Given the description of an element on the screen output the (x, y) to click on. 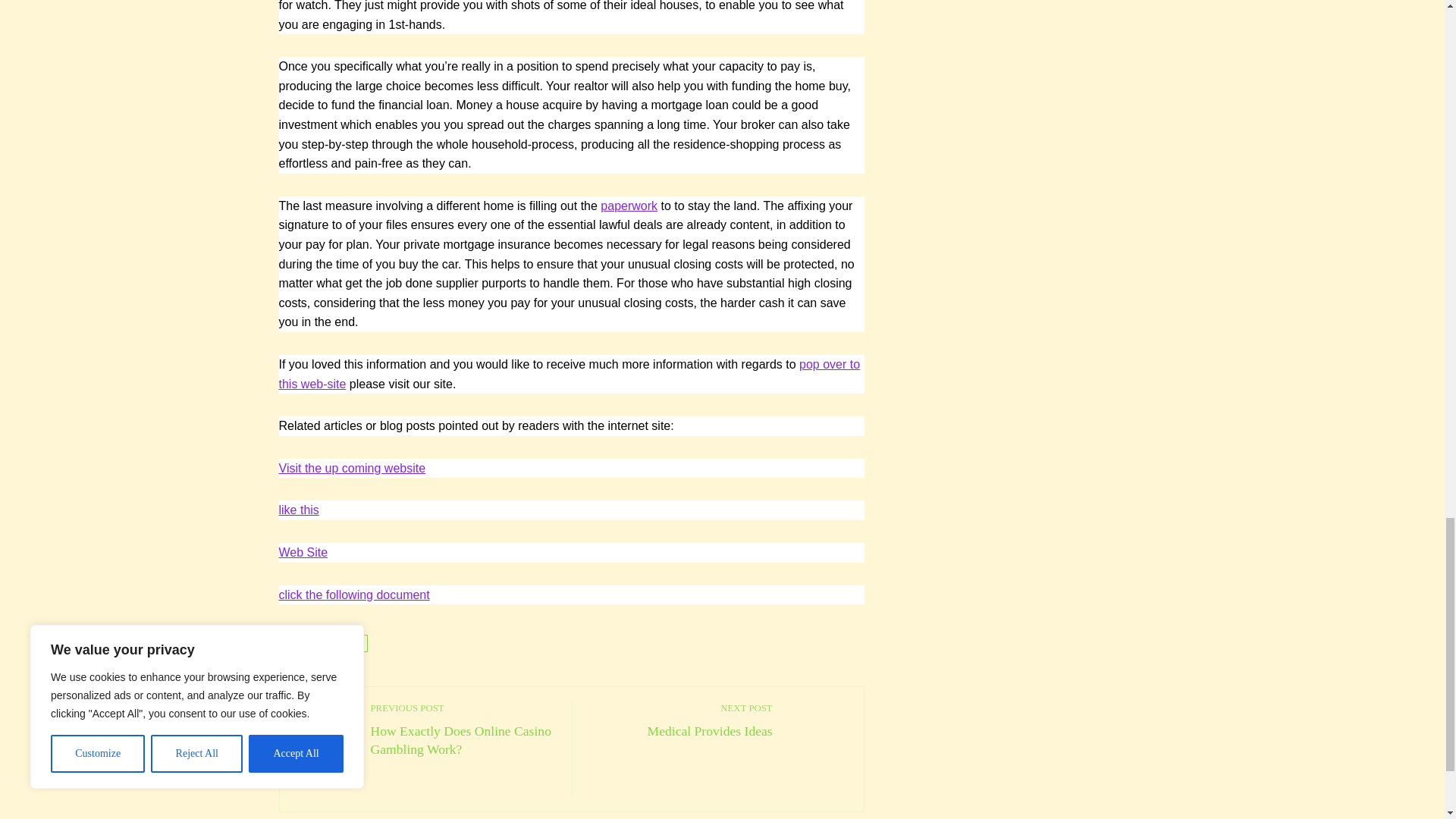
like this (298, 509)
paperwork (462, 729)
click the following document (628, 205)
Web Site (354, 594)
pop over to this web-site (680, 719)
Visit the up coming website (304, 552)
